Given the description of an element on the screen output the (x, y) to click on. 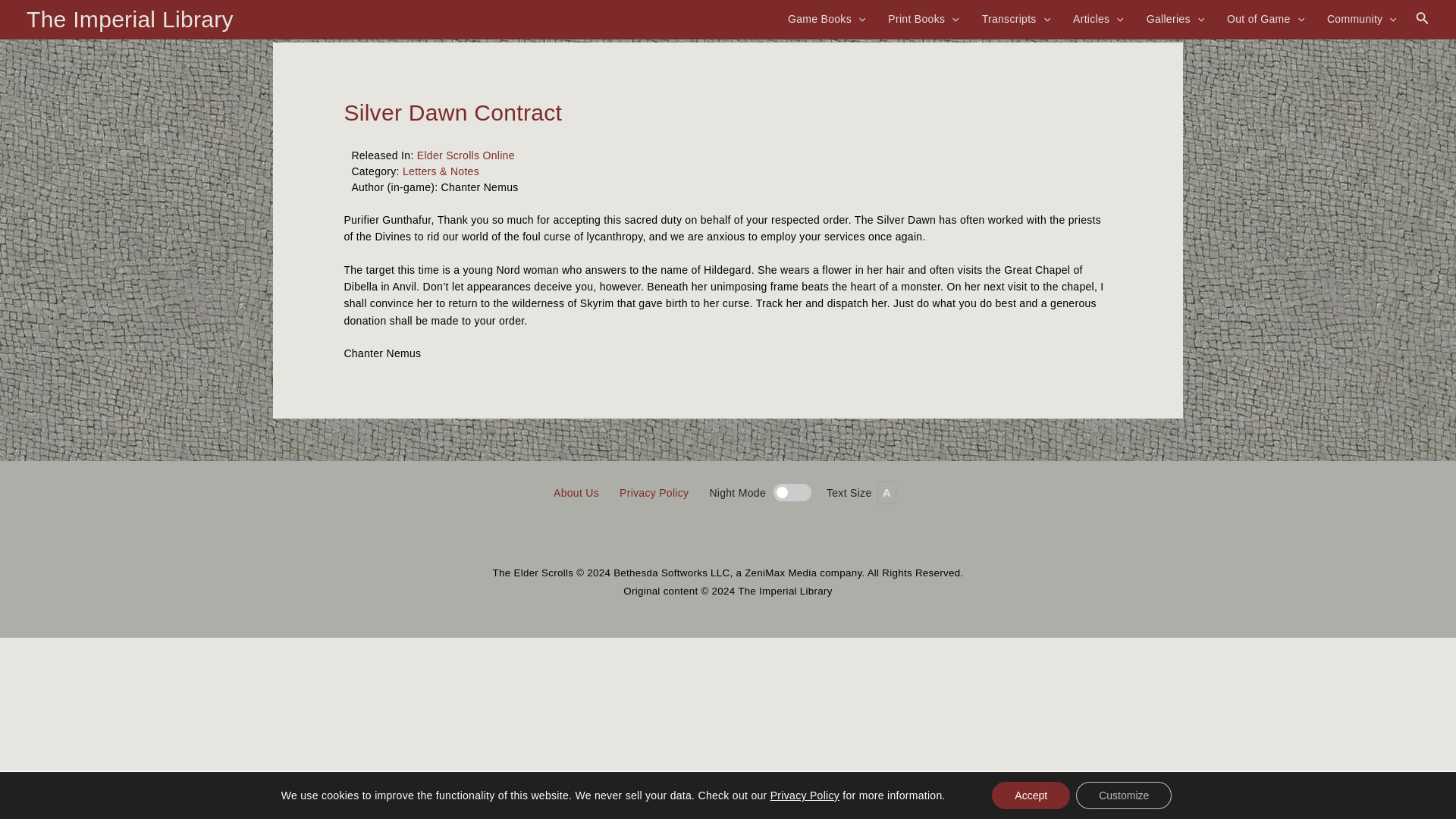
Articles (1097, 18)
Game Books (826, 18)
The Imperial Library (129, 18)
Print Books (922, 18)
Transcripts (1016, 18)
